Given the description of an element on the screen output the (x, y) to click on. 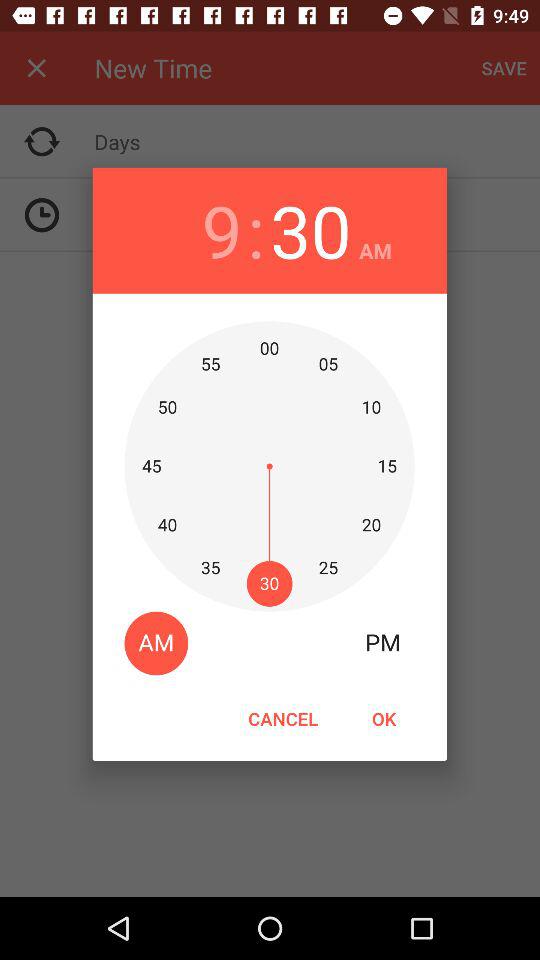
click the item to the left of : item (221, 230)
